Given the description of an element on the screen output the (x, y) to click on. 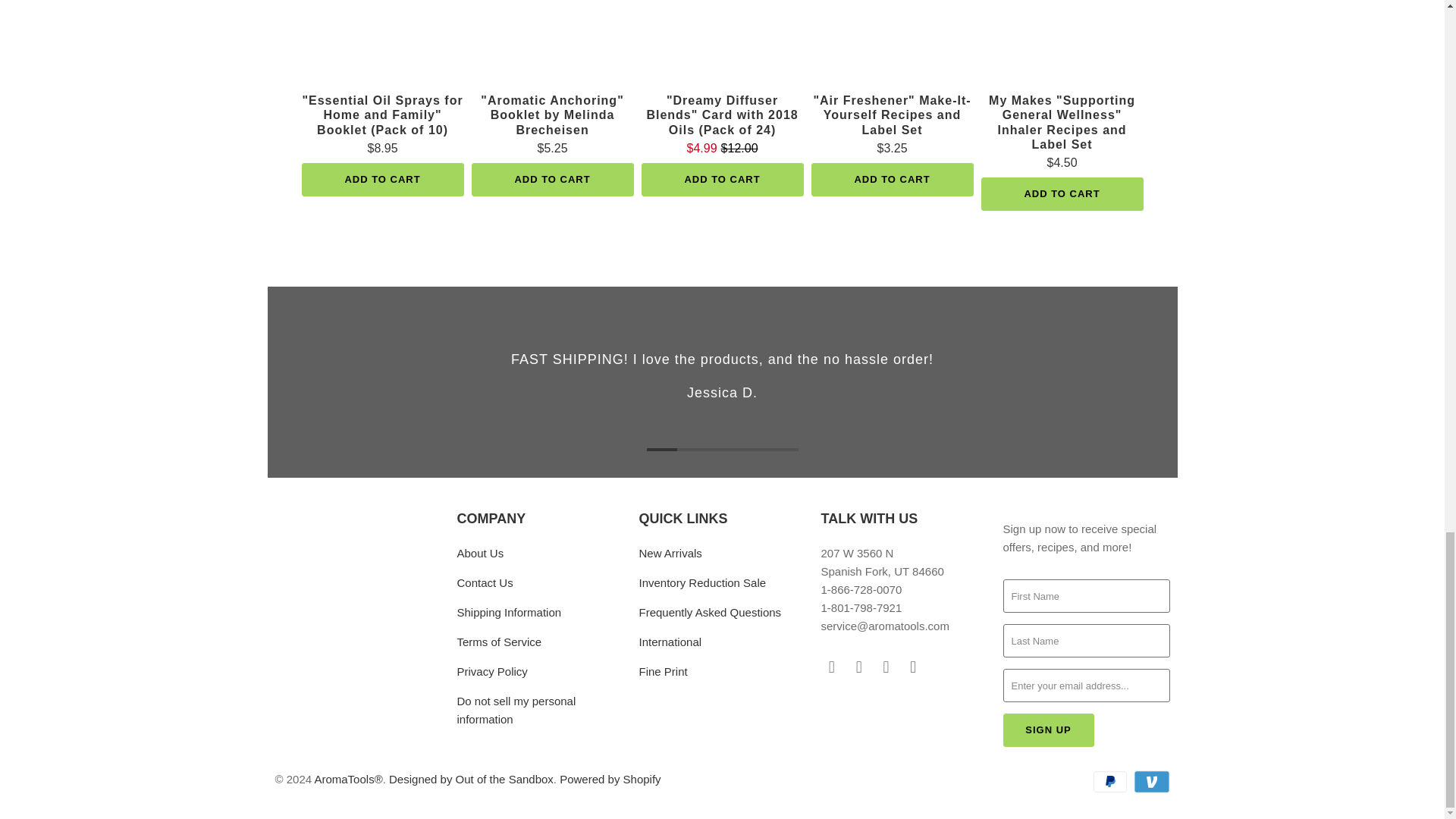
Venmo (1150, 781)
PayPal (1111, 781)
Sign Up (1048, 729)
